Given the description of an element on the screen output the (x, y) to click on. 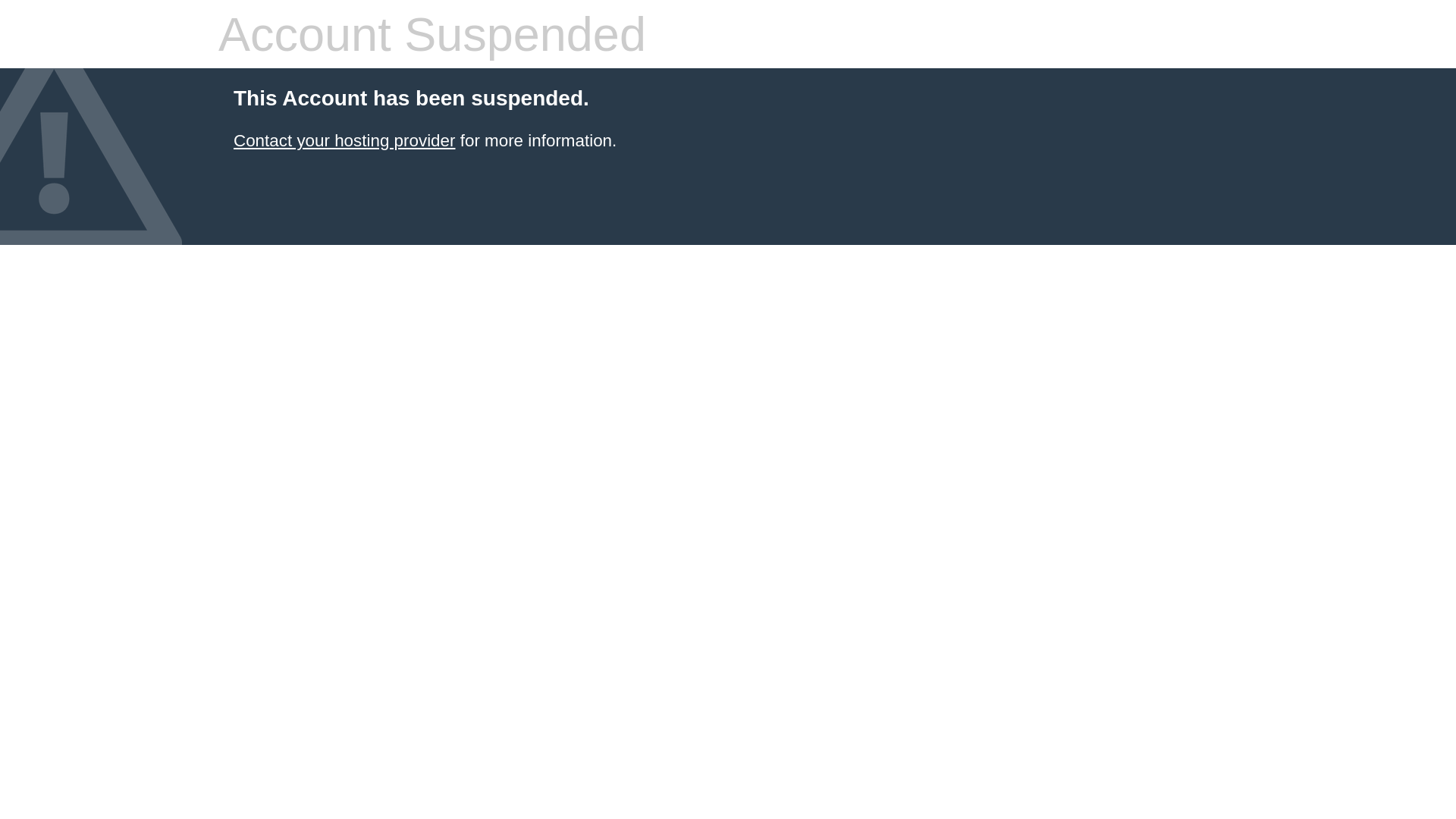
Contact your hosting provider Element type: text (344, 140)
